Given the description of an element on the screen output the (x, y) to click on. 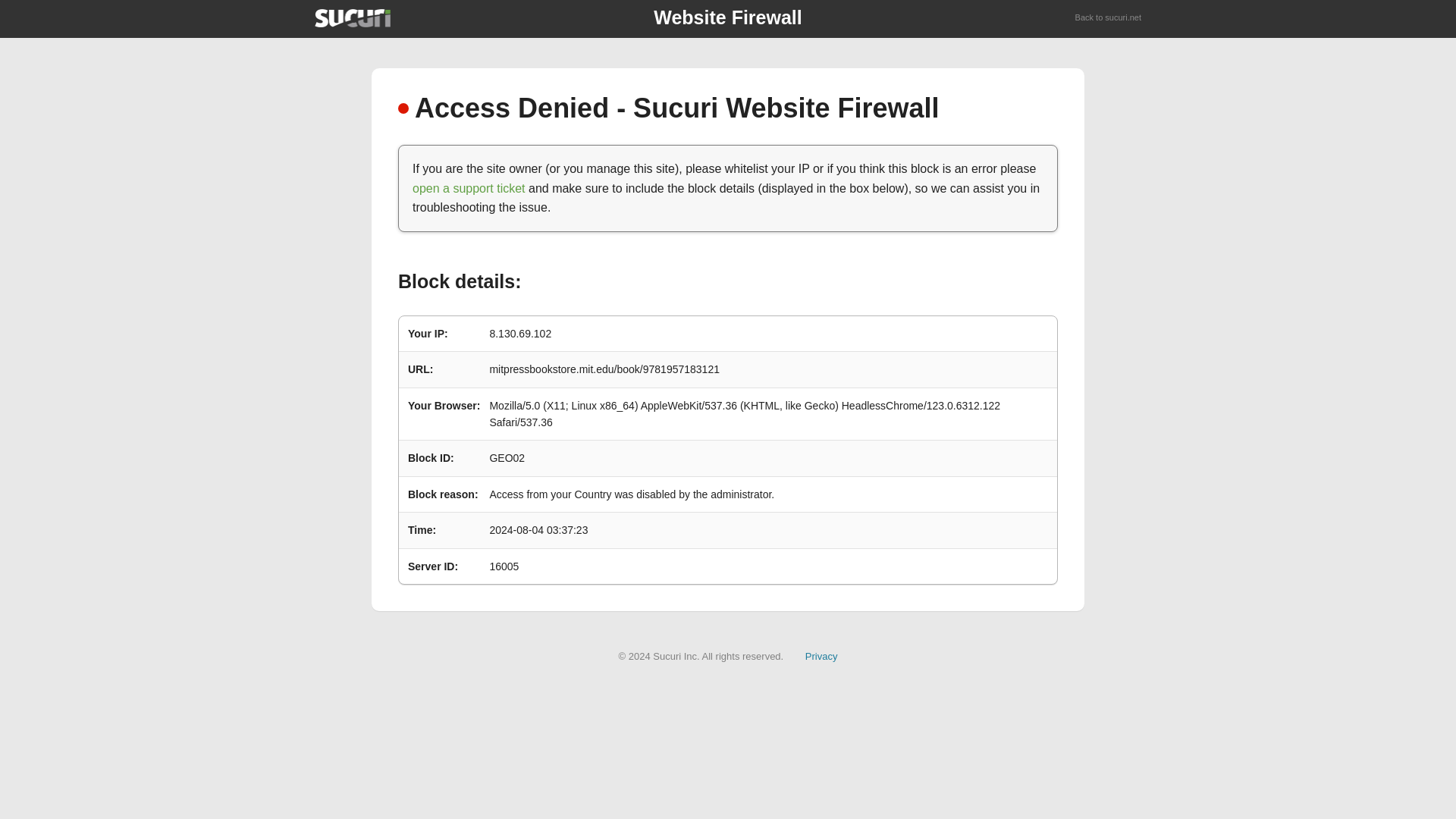
Back to sucuri.net (1108, 18)
open a support ticket (468, 187)
Privacy (821, 655)
